Given the description of an element on the screen output the (x, y) to click on. 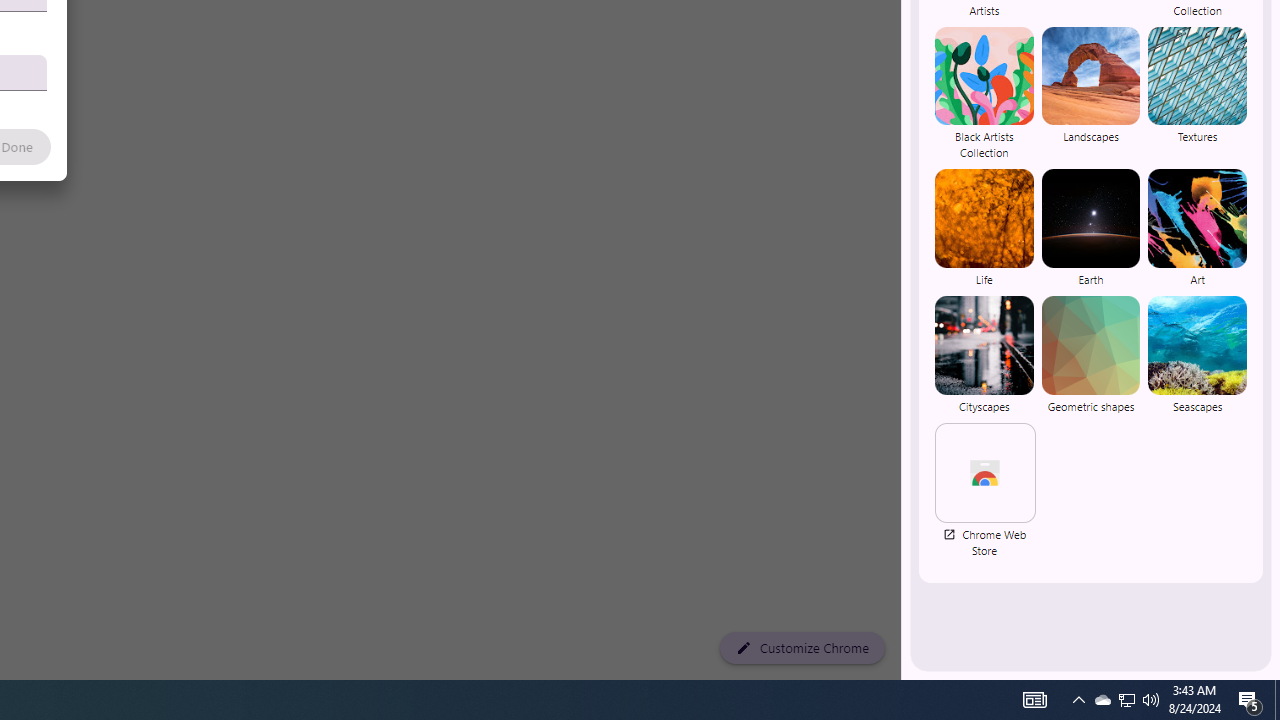
Side Panel Resize Handle (905, 39)
Life (984, 228)
 Chrome Web Store (984, 490)
Black Artists Collection (984, 93)
Seascapes (1197, 354)
Cityscapes (984, 354)
Landscapes (1090, 93)
AutomationID: chromeWebStore (985, 471)
Art (1197, 228)
Geometric shapes (1090, 354)
Textures (1197, 93)
Earth (1090, 228)
